Given the description of an element on the screen output the (x, y) to click on. 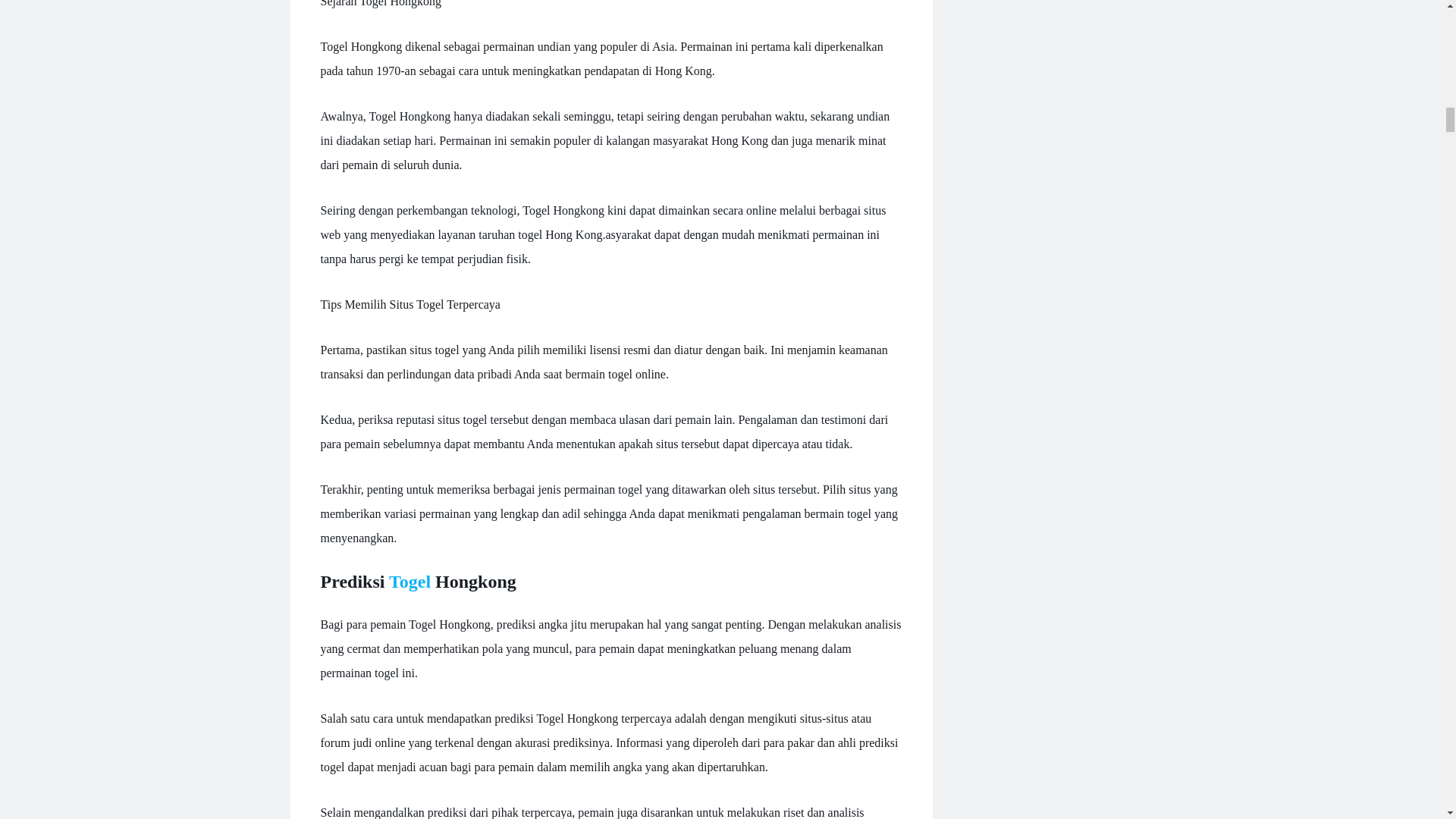
Togel (409, 581)
